Given the description of an element on the screen output the (x, y) to click on. 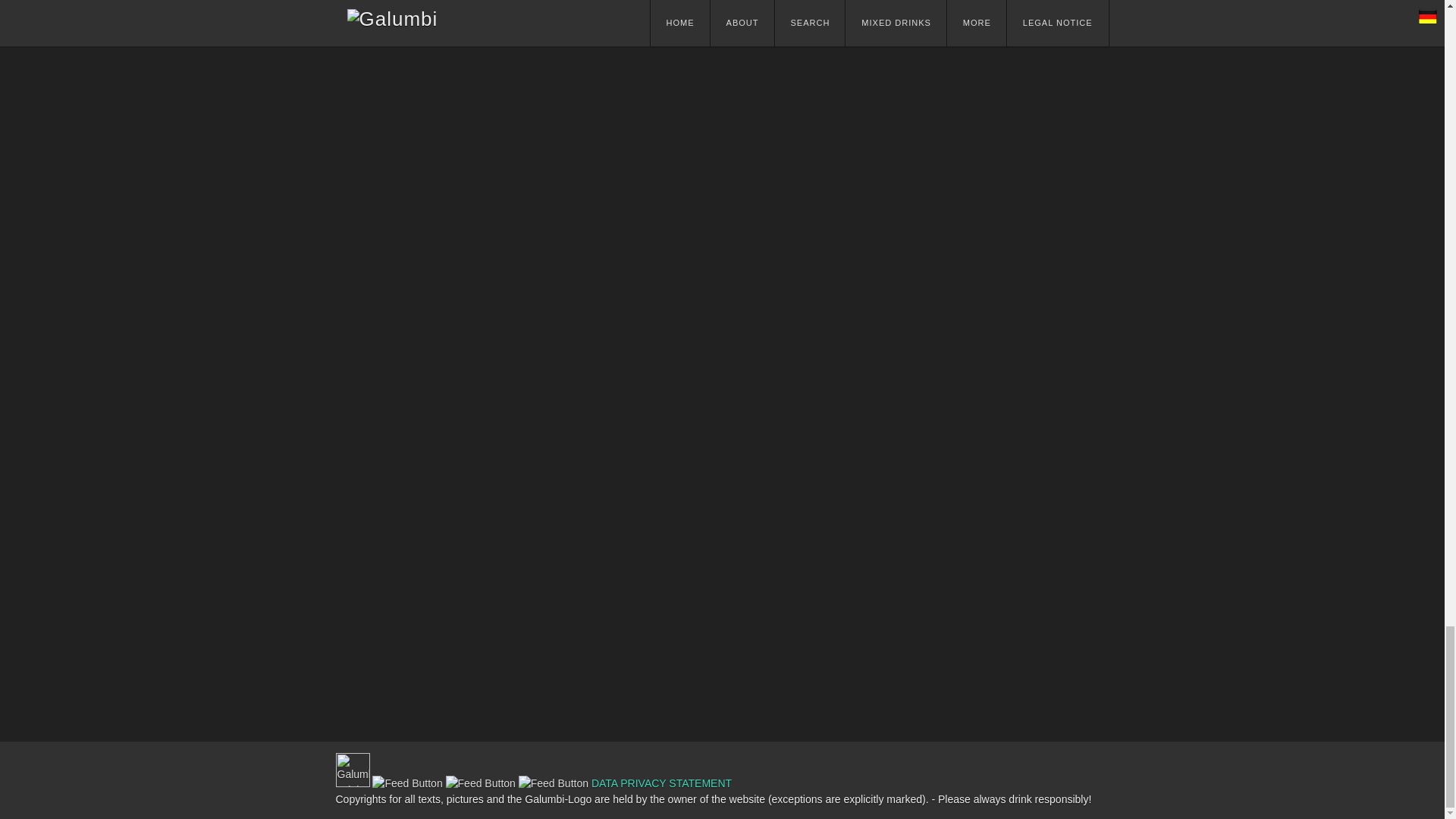
Post Comment (400, 690)
